Given the description of an element on the screen output the (x, y) to click on. 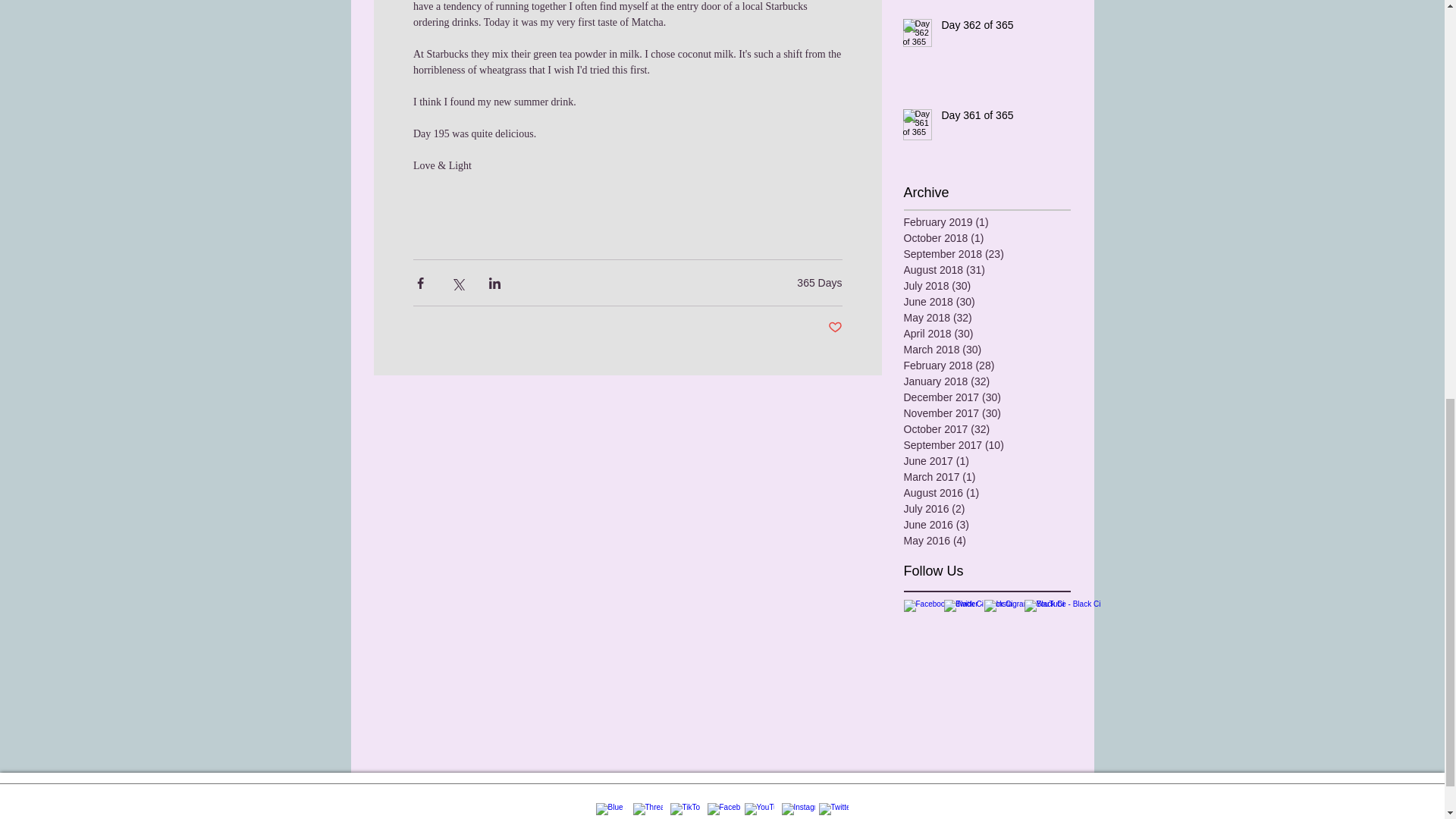
365 Days (818, 282)
Day 361 of 365 (996, 118)
Post not marked as liked (835, 327)
Day 362 of 365 (996, 28)
